Given the description of an element on the screen output the (x, y) to click on. 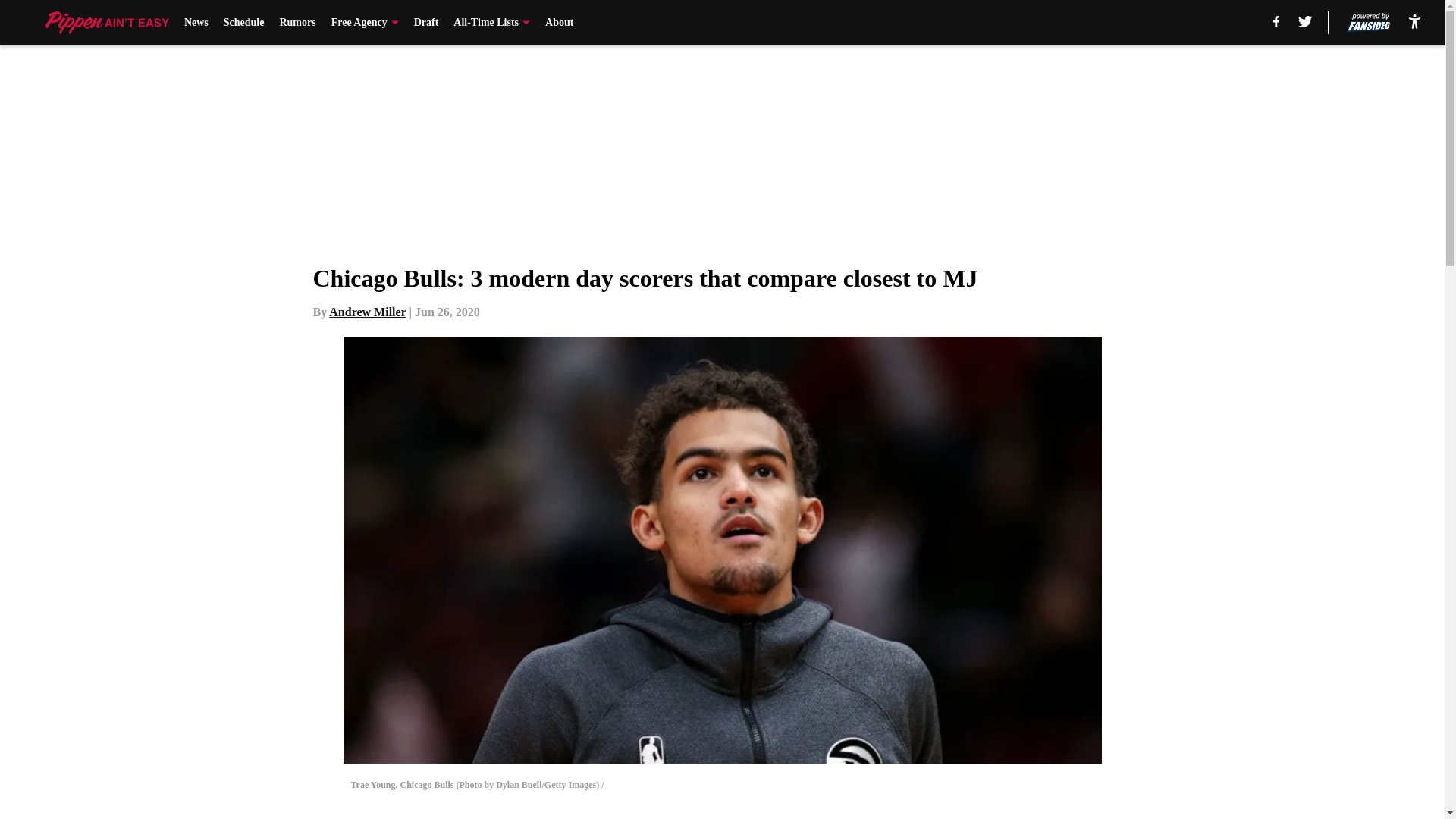
Draft (426, 22)
Rumors (297, 22)
Schedule (244, 22)
News (196, 22)
All-Time Lists (490, 22)
Andrew Miller (367, 311)
Free Agency (364, 22)
About (558, 22)
